Given the description of an element on the screen output the (x, y) to click on. 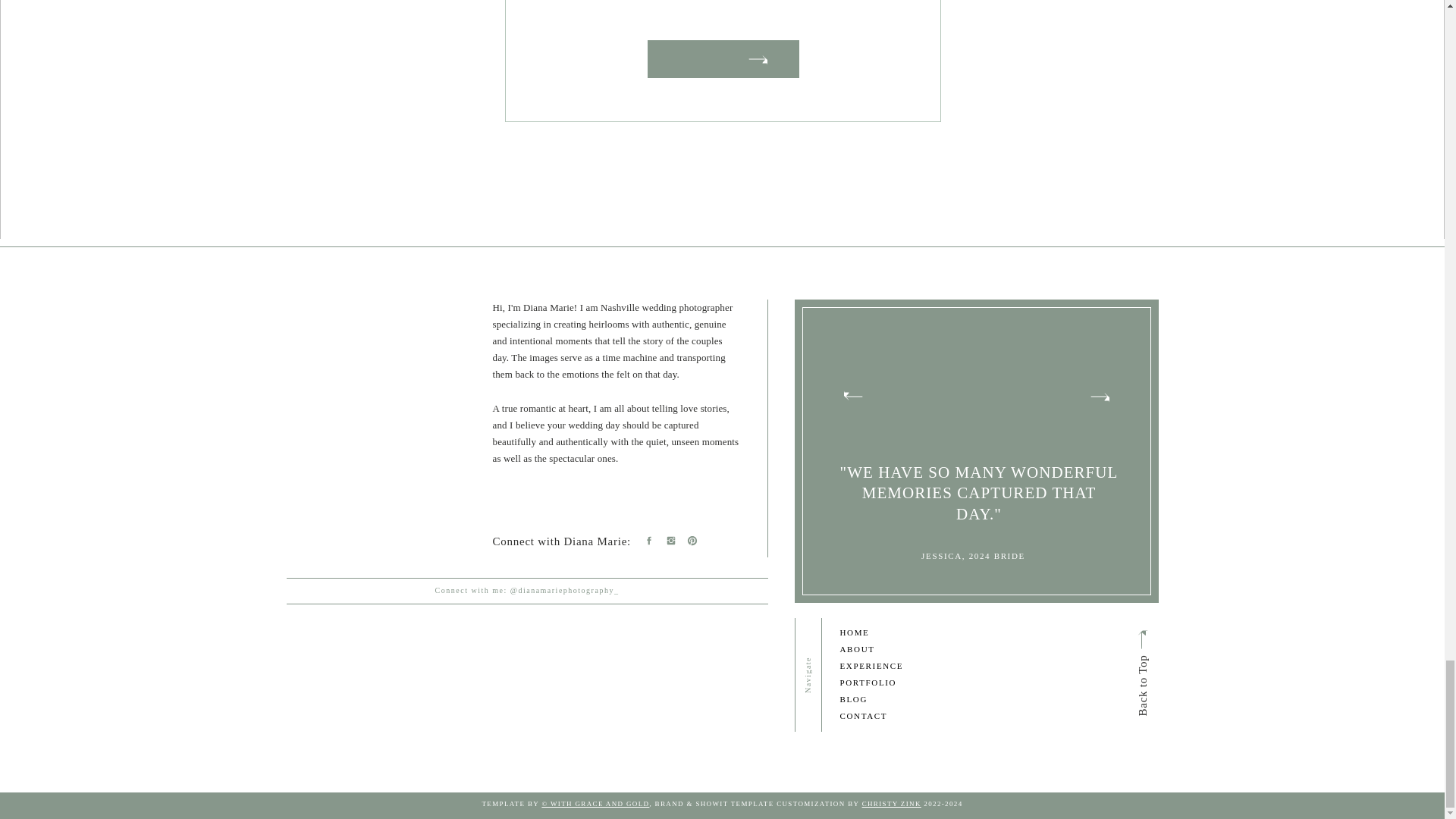
Created by potrace 1.15, written by Peter Selinger 2001-2017 (1141, 639)
